Given the description of an element on the screen output the (x, y) to click on. 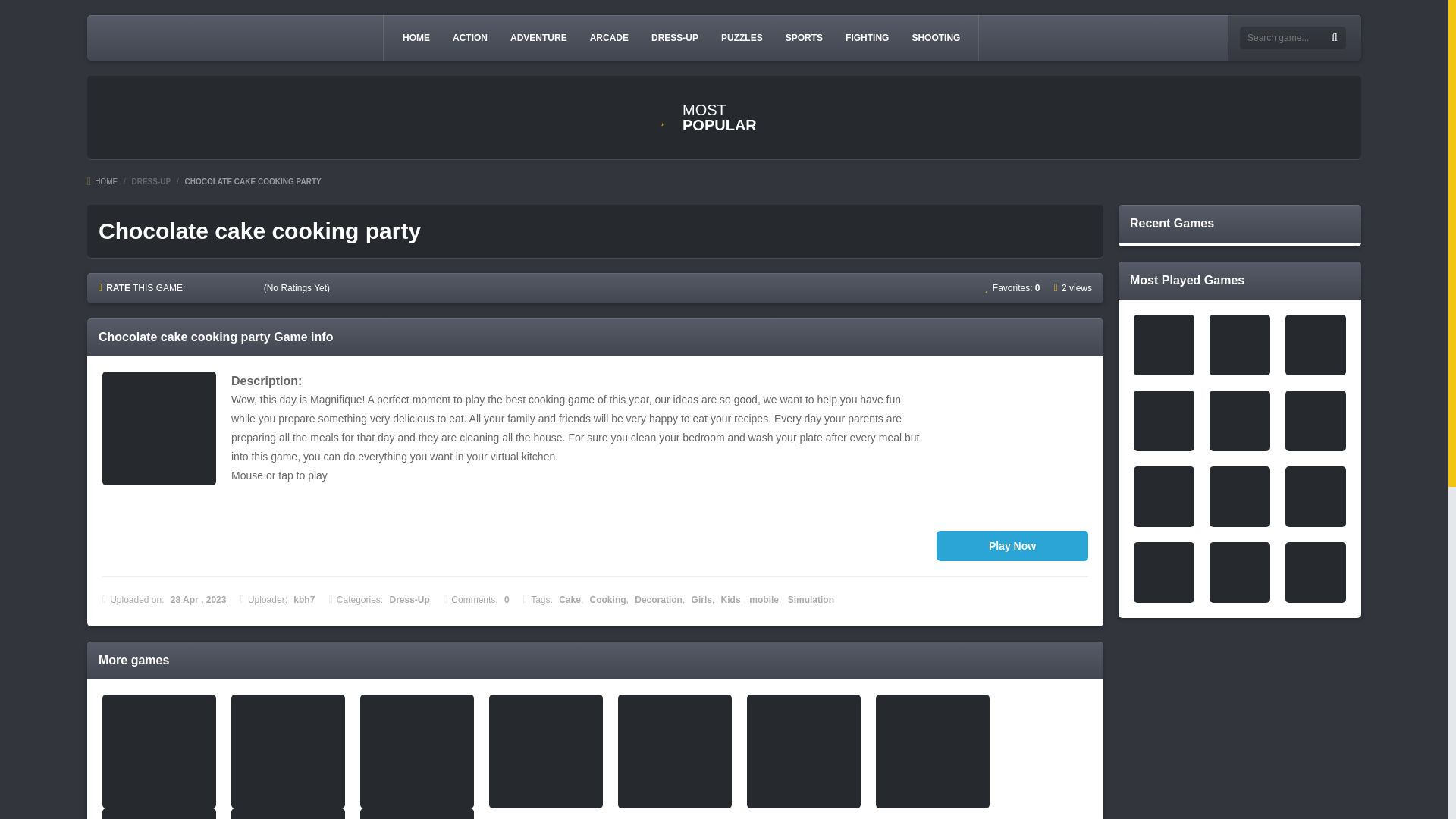
kbh7 (304, 599)
Cooking (607, 599)
SHOOTING (936, 37)
ADVENTURE (538, 37)
FIGHTING (867, 37)
SPORTS (803, 37)
DRESS-UP (150, 181)
Dress-Up (409, 599)
HOME (416, 37)
HOME (102, 181)
Search (1334, 37)
DRESS-UP (674, 37)
Cake (569, 599)
KBH Games (231, 37)
ACTION (470, 37)
